Given the description of an element on the screen output the (x, y) to click on. 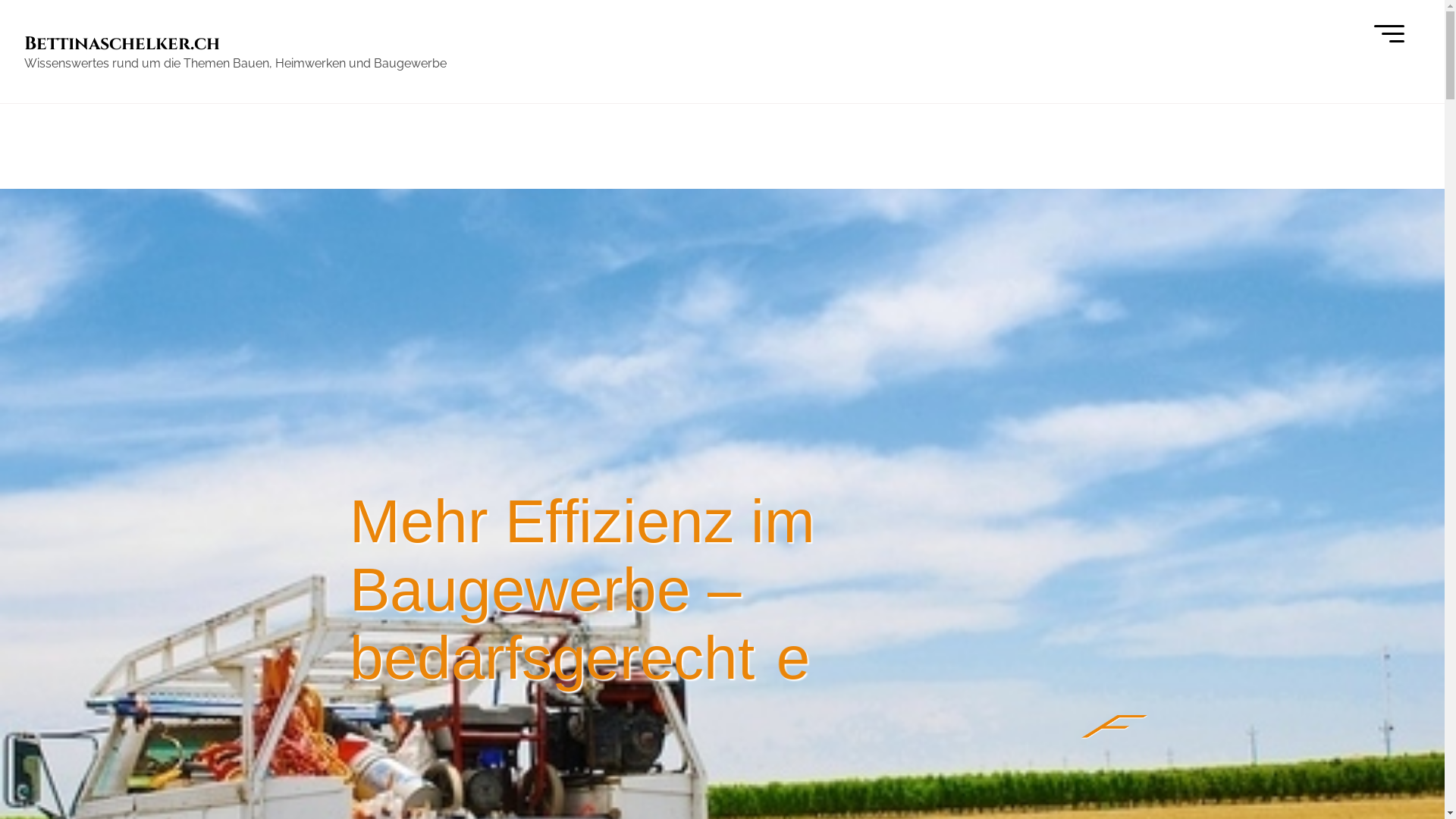
Bettinaschelker.ch Element type: text (121, 43)
